Given the description of an element on the screen output the (x, y) to click on. 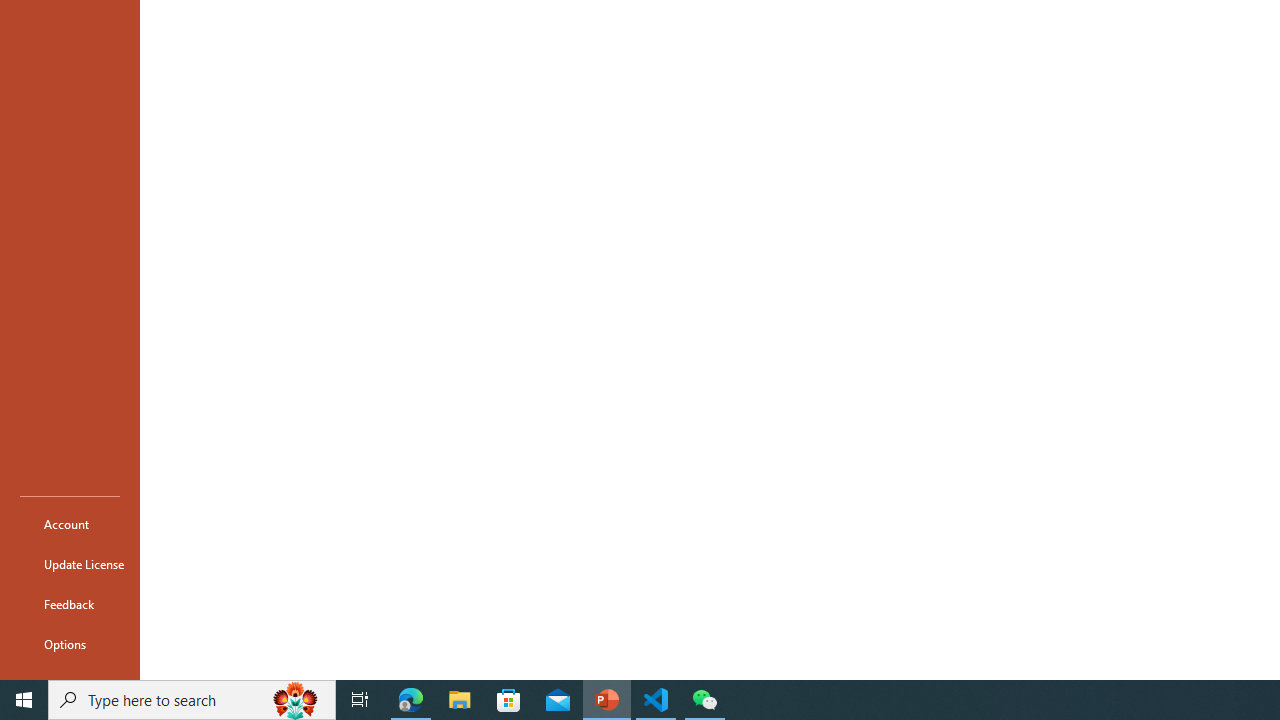
Update License (69, 563)
Account (69, 523)
Options (69, 643)
Feedback (69, 603)
